Given the description of an element on the screen output the (x, y) to click on. 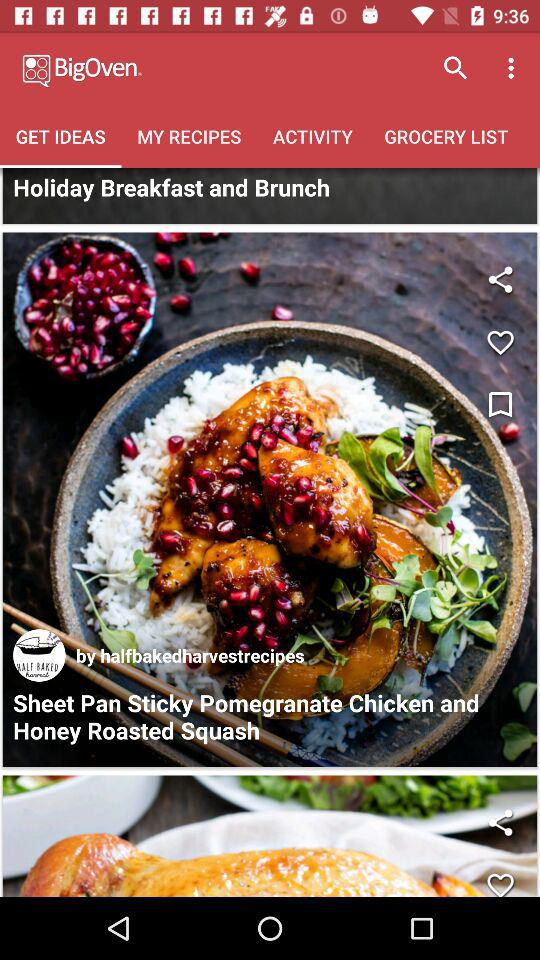
like a recipe (500, 878)
